Given the description of an element on the screen output the (x, y) to click on. 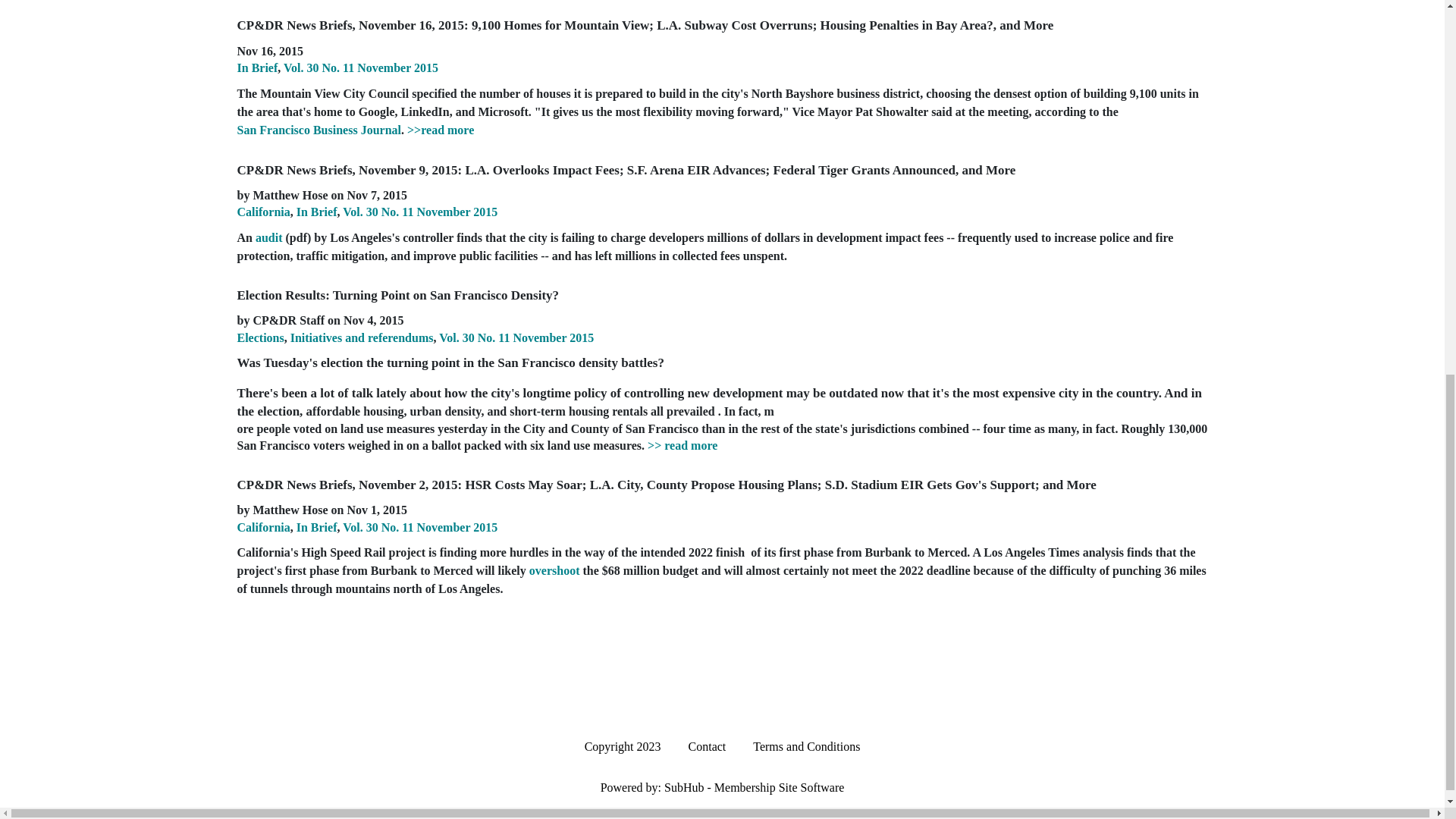
Election Results: Turning Point on San Francisco Density? (397, 295)
